Given the description of an element on the screen output the (x, y) to click on. 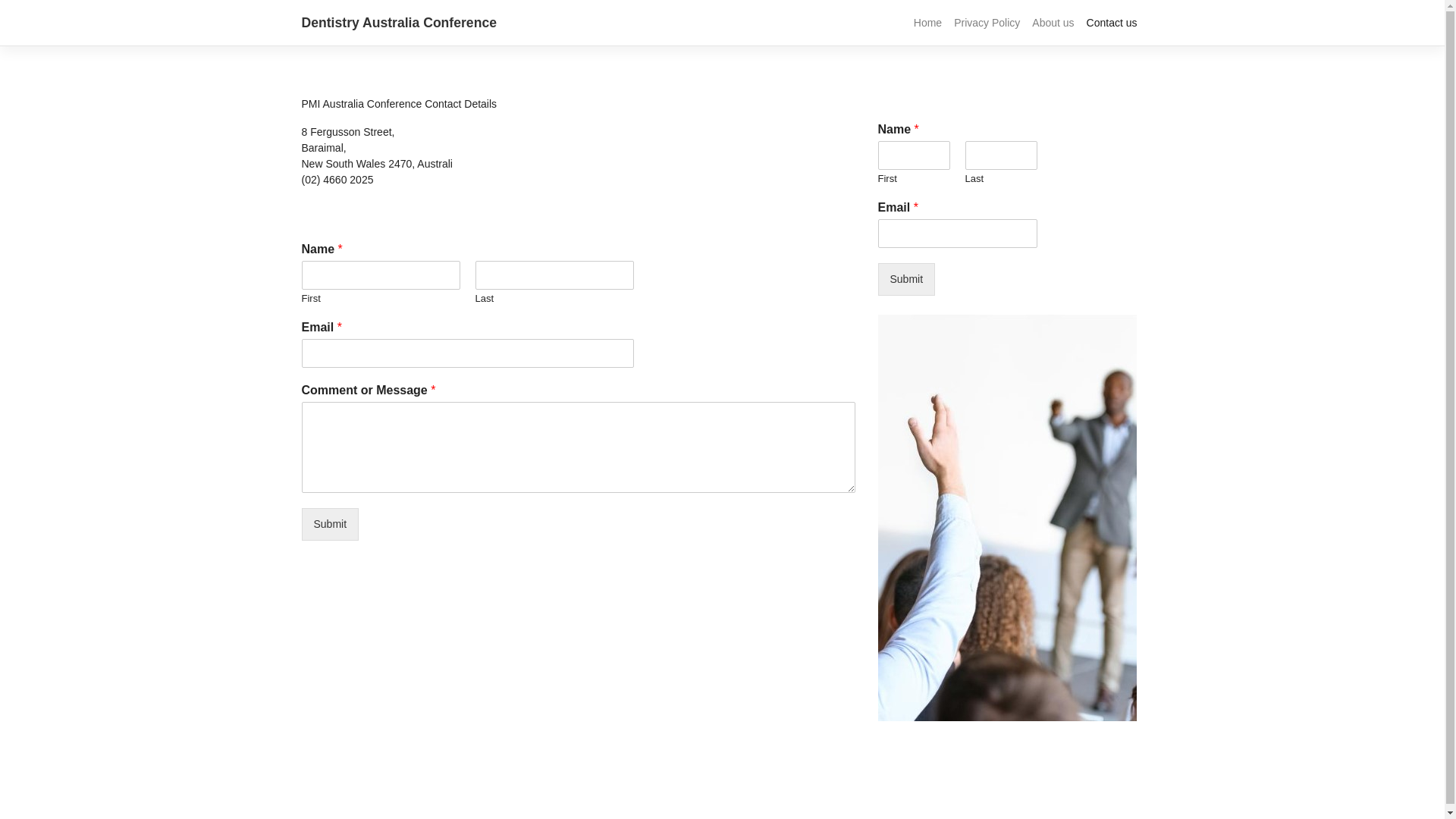
Submit Element type: text (906, 279)
About us Element type: text (1052, 23)
Privacy Policy Element type: text (986, 23)
Dentistry Australia Conference Element type: text (398, 22)
Home Element type: text (927, 23)
Contact us Element type: text (1111, 23)
Submit Element type: text (330, 524)
